Given the description of an element on the screen output the (x, y) to click on. 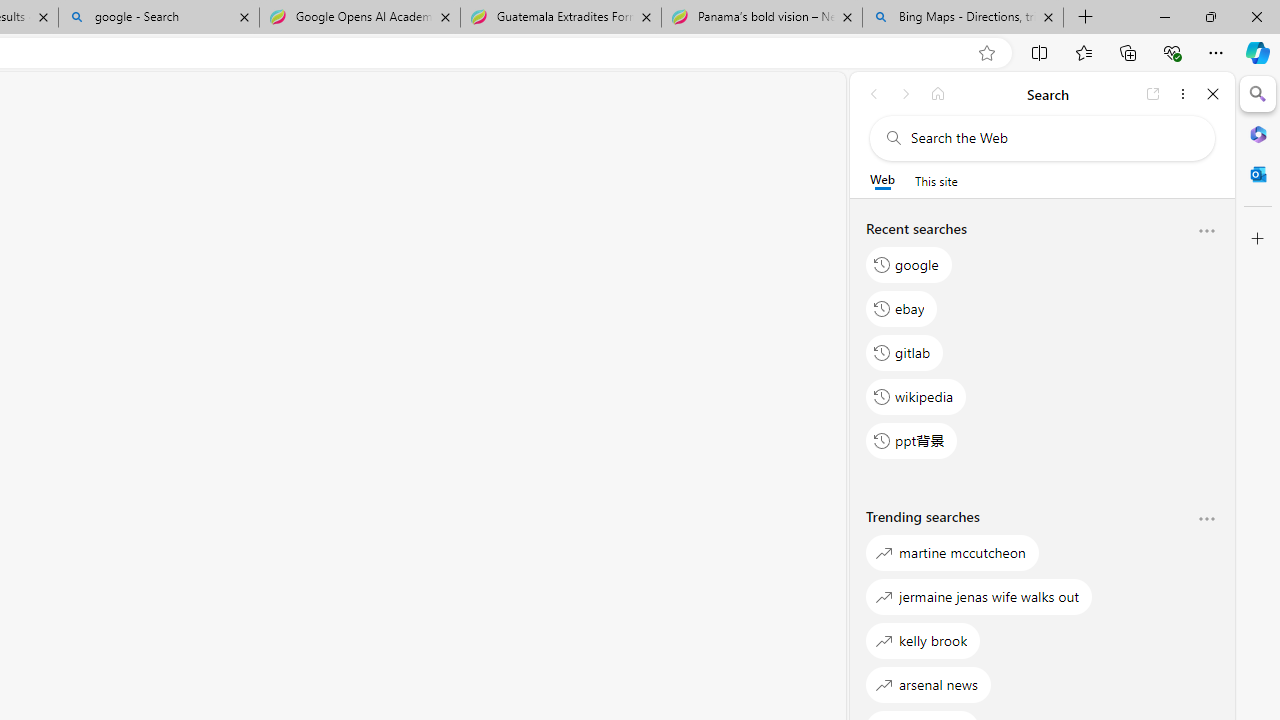
kelly brook (923, 640)
gitlab (905, 352)
martine mccutcheon (952, 552)
